Given the description of an element on the screen output the (x, y) to click on. 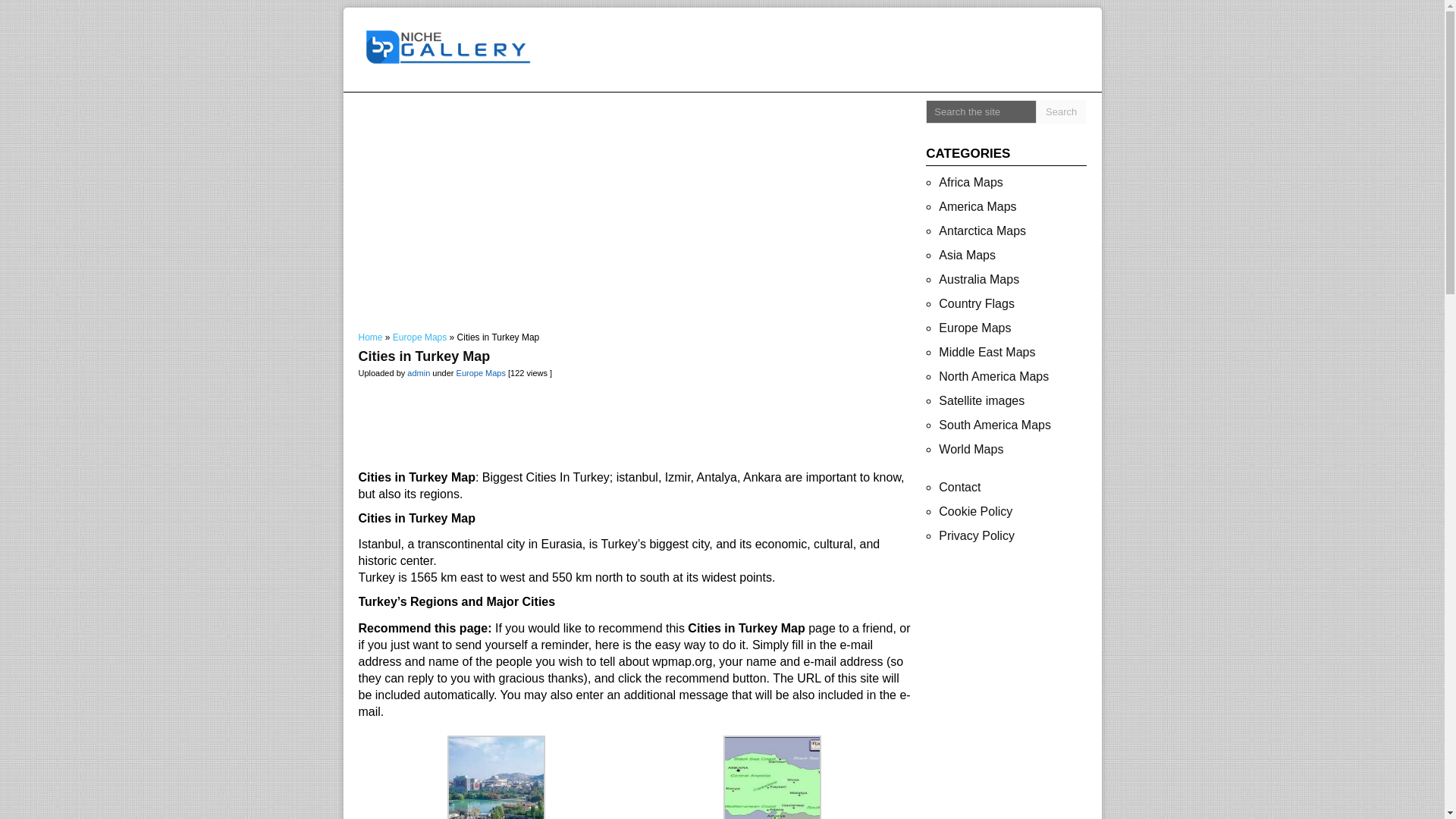
Posts by admin (418, 372)
Europe Maps (481, 372)
Europe Maps (419, 337)
admin (418, 372)
Map Pictures (448, 47)
Search (1061, 111)
Home (369, 337)
Search the site (981, 111)
